Given the description of an element on the screen output the (x, y) to click on. 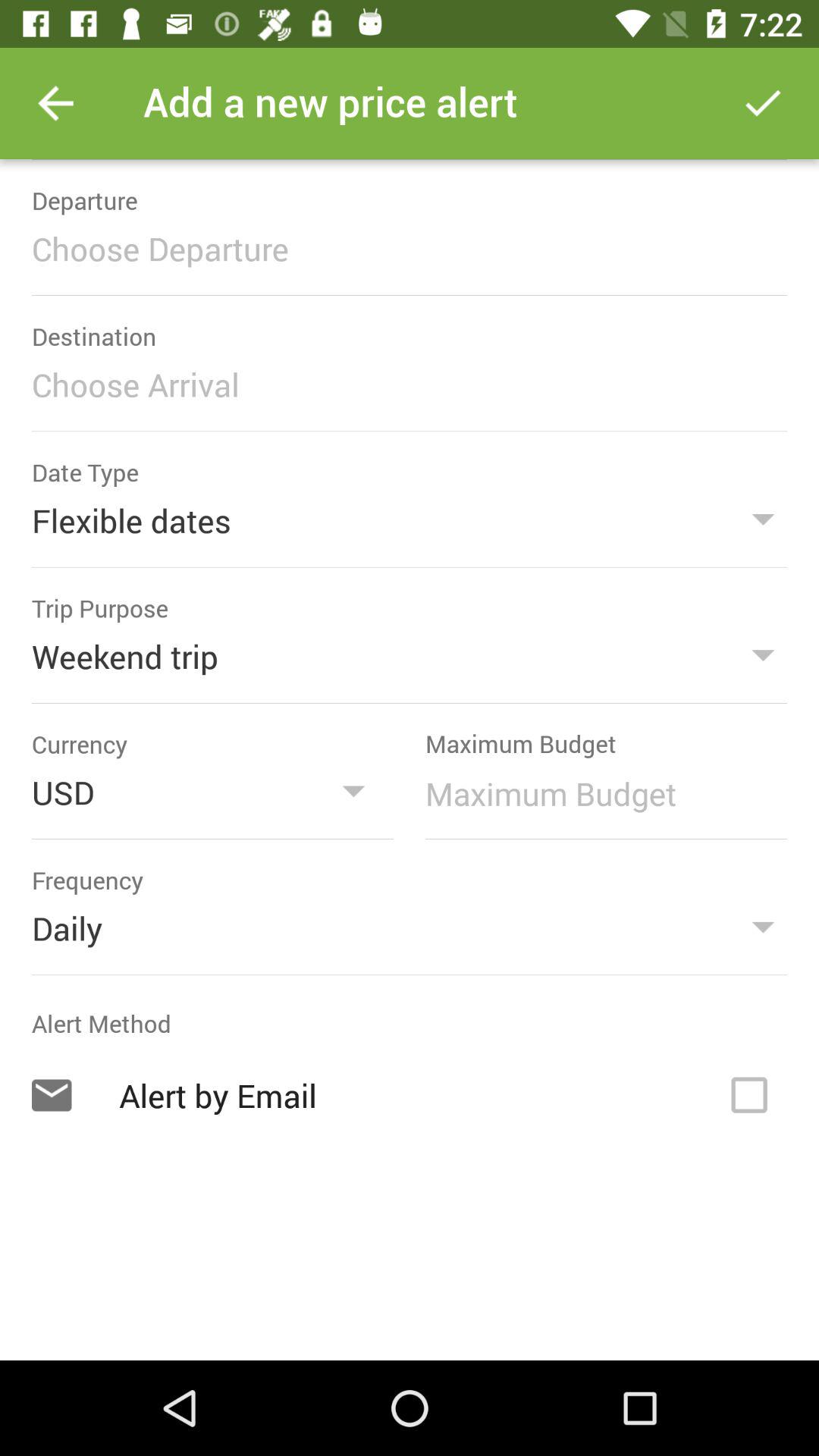
confirm information (763, 103)
